Given the description of an element on the screen output the (x, y) to click on. 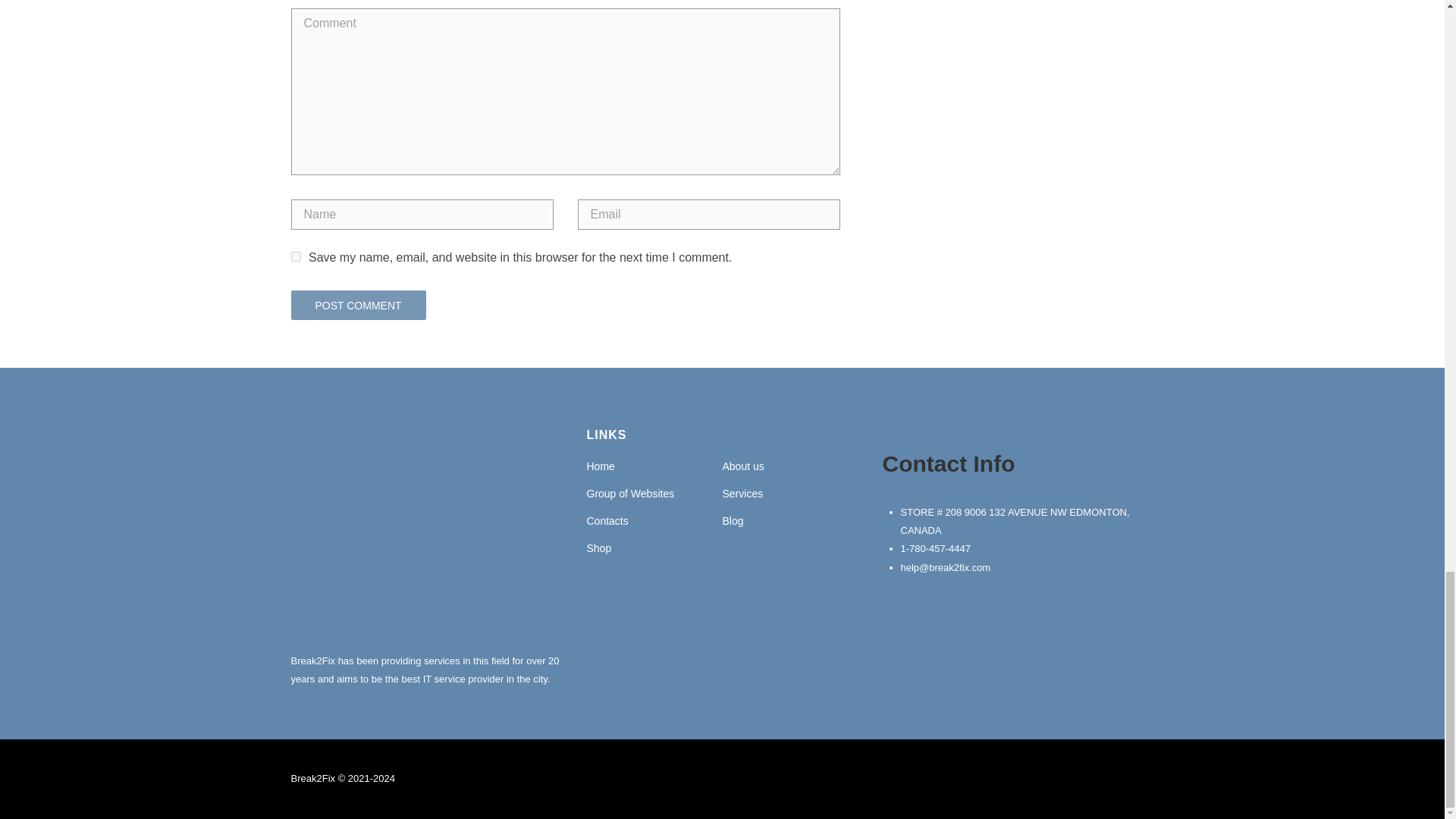
yes (296, 256)
Post comment (358, 305)
Post comment (358, 305)
